Given the description of an element on the screen output the (x, y) to click on. 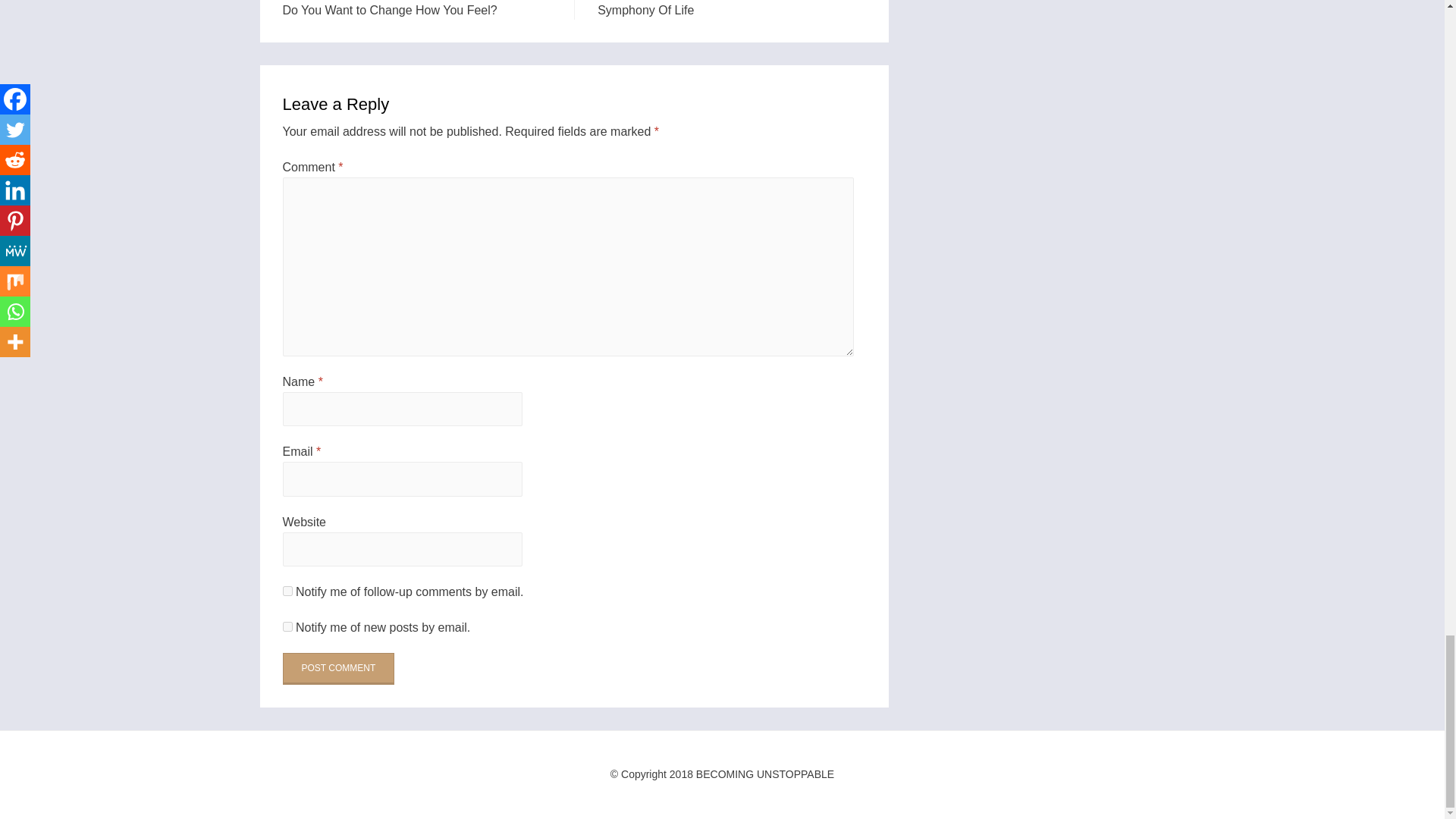
Post Comment (338, 668)
subscribe (287, 591)
subscribe (287, 626)
